Given the description of an element on the screen output the (x, y) to click on. 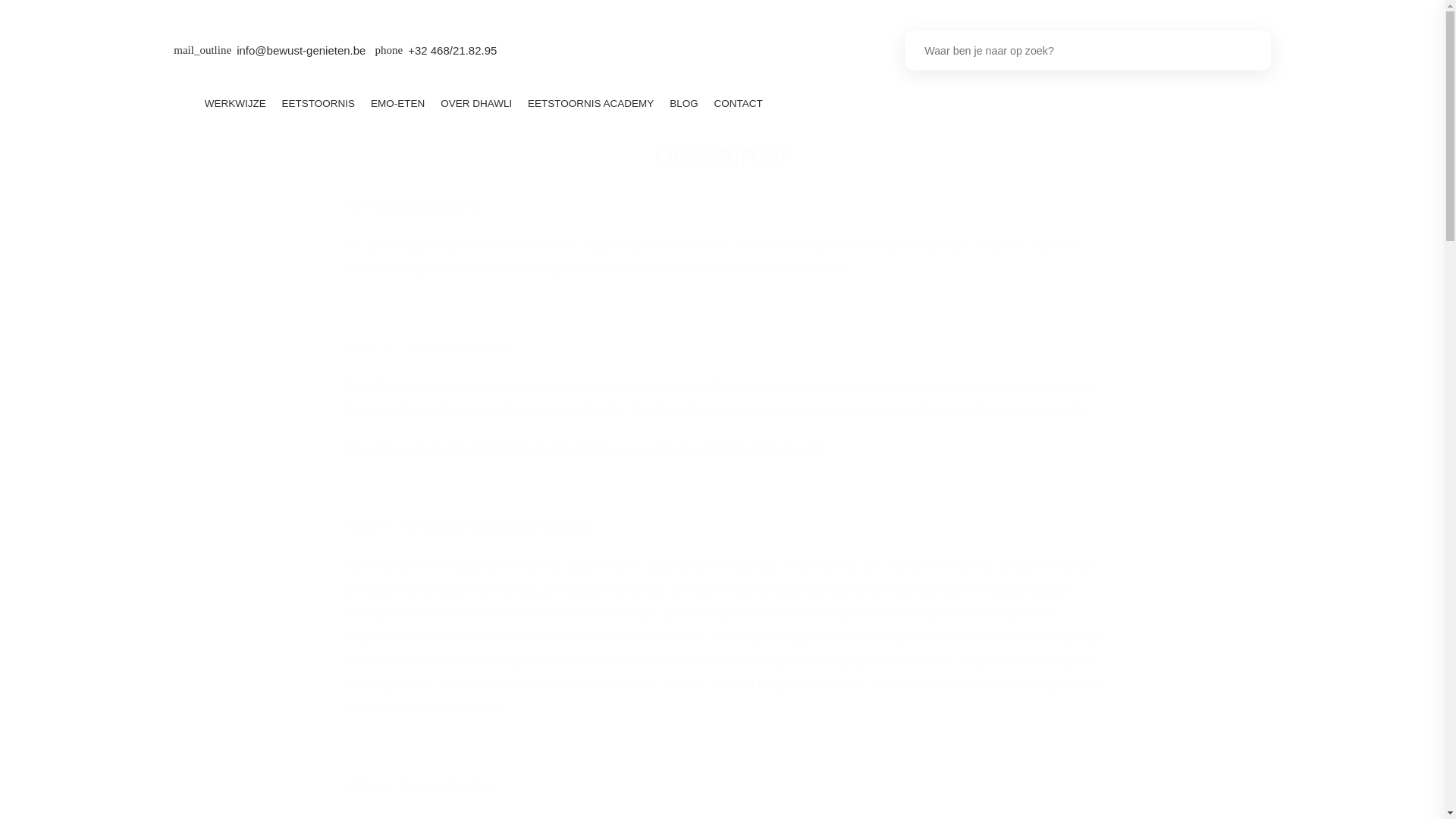
mail_outline
info@bewust-genieten.be Element type: text (269, 50)
EETSTOORNIS ACADEMY Element type: text (590, 103)
WERKWIJZE Element type: text (235, 103)
CONTACT Element type: text (737, 103)
BLOG Element type: text (683, 103)
EETSTOORNIS Element type: text (317, 103)
EMO-ETEN Element type: text (398, 103)
phone
+32 468/21.82.95 Element type: text (435, 50)
OVER DHAWLI Element type: text (476, 103)
